Given the description of an element on the screen output the (x, y) to click on. 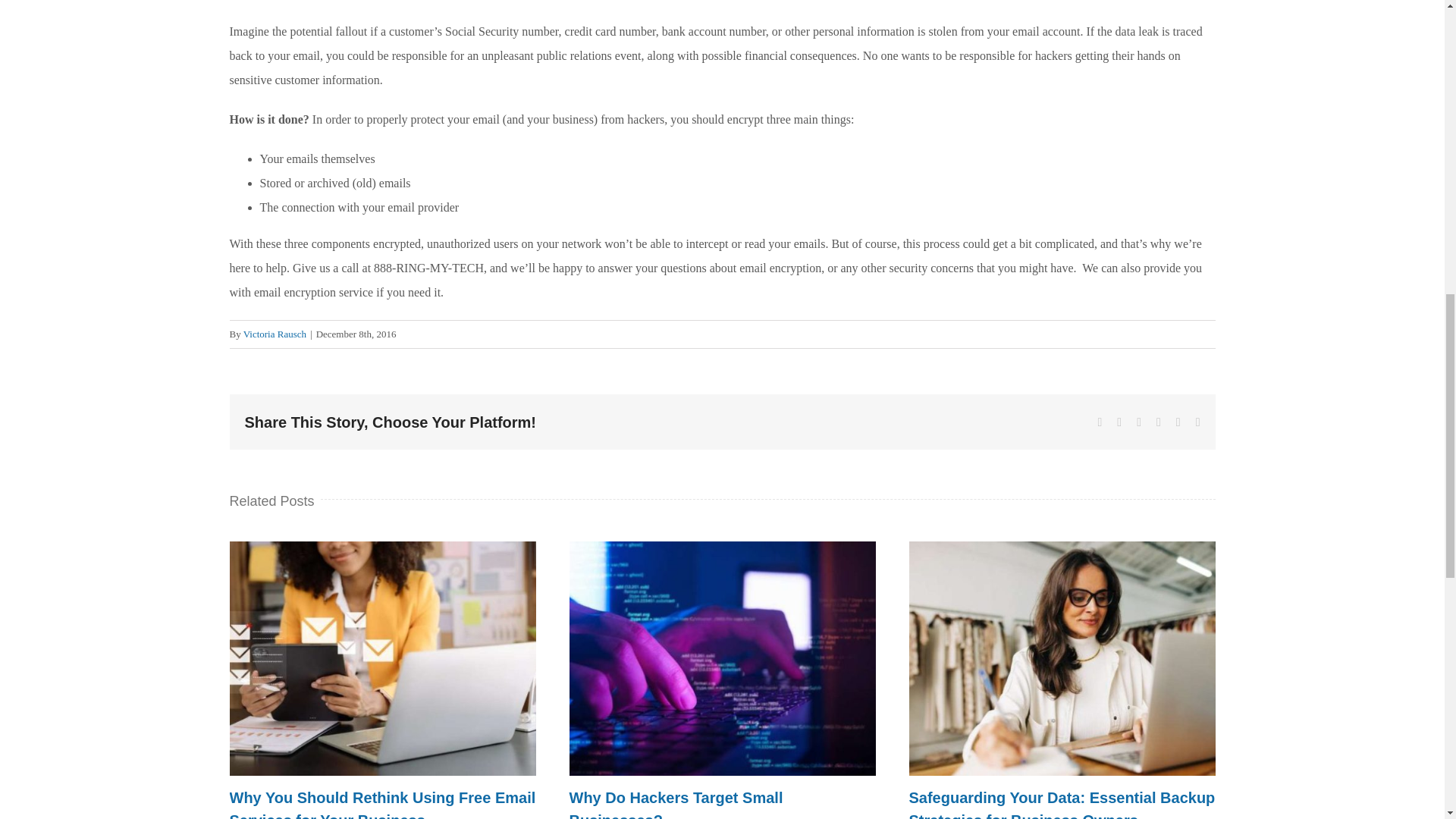
Why Do Hackers Target Small Businesses? (676, 804)
Posts by Victoria Rausch (274, 333)
Victoria Rausch (274, 333)
